Given the description of an element on the screen output the (x, y) to click on. 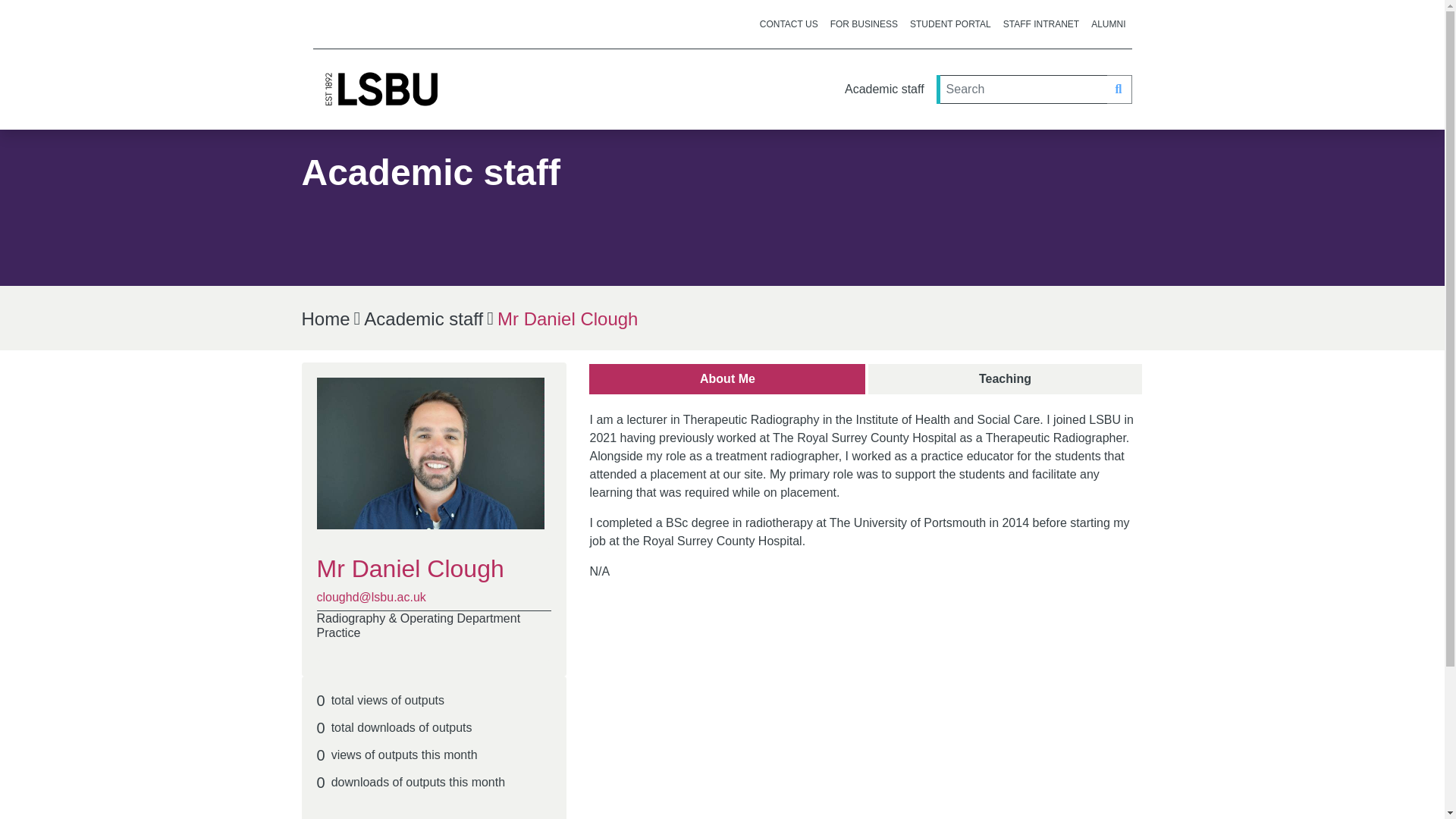
STUDENT PORTAL (950, 23)
Academic staff (423, 317)
ALUMNI (1107, 23)
CONTACT US (789, 23)
FOR BUSINESS (864, 23)
Teaching (1004, 378)
Academic staff (884, 88)
STAFF INTRANET (865, 378)
About Me (1040, 23)
